Given the description of an element on the screen output the (x, y) to click on. 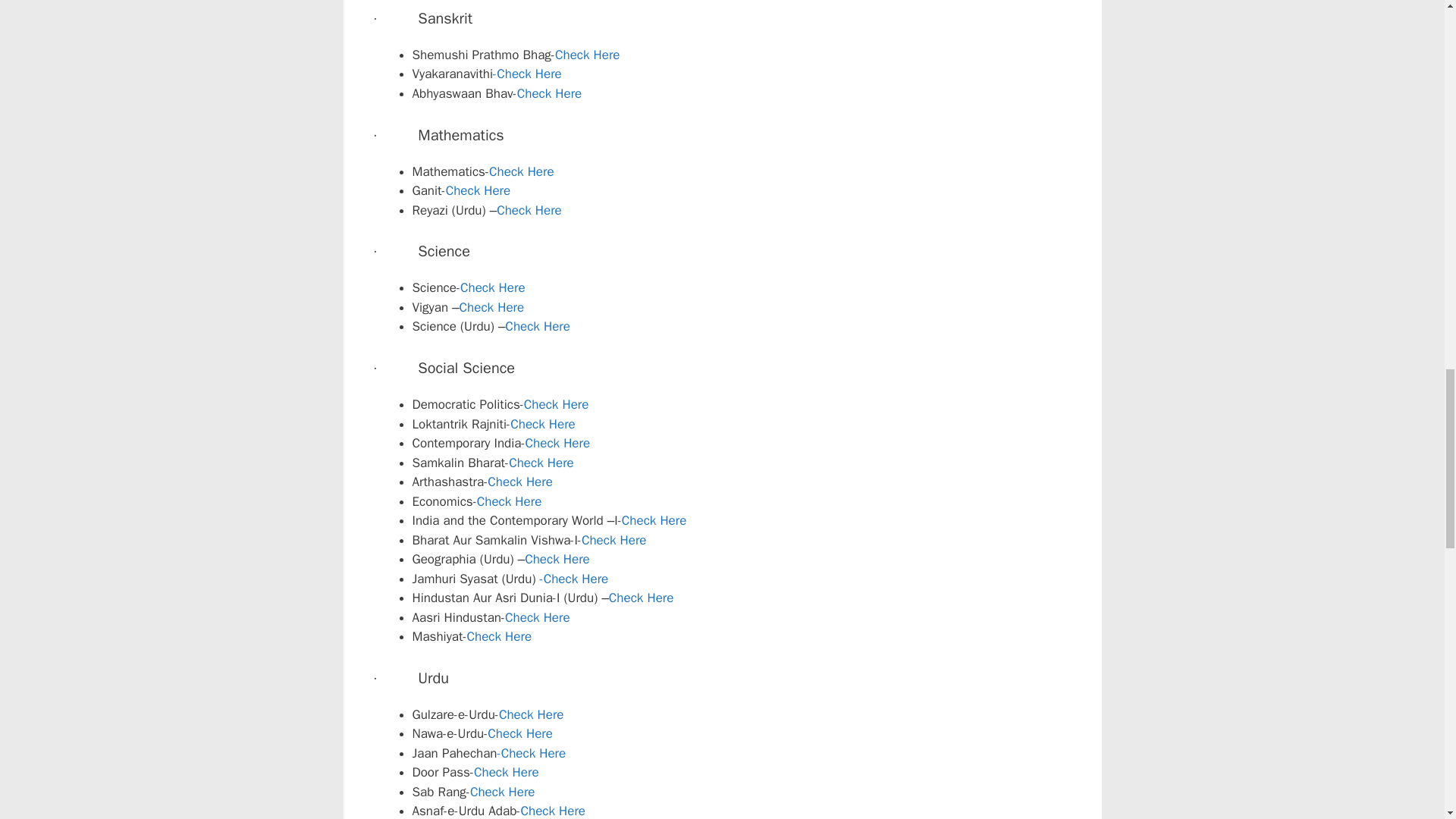
Check Here (558, 442)
Check Here (529, 210)
Check Here (543, 424)
Check Here (549, 93)
Check Here (478, 190)
Check Here (492, 307)
Check Here (537, 326)
Check Here (613, 539)
Check Here (540, 462)
Check Here (492, 287)
